Given the description of an element on the screen output the (x, y) to click on. 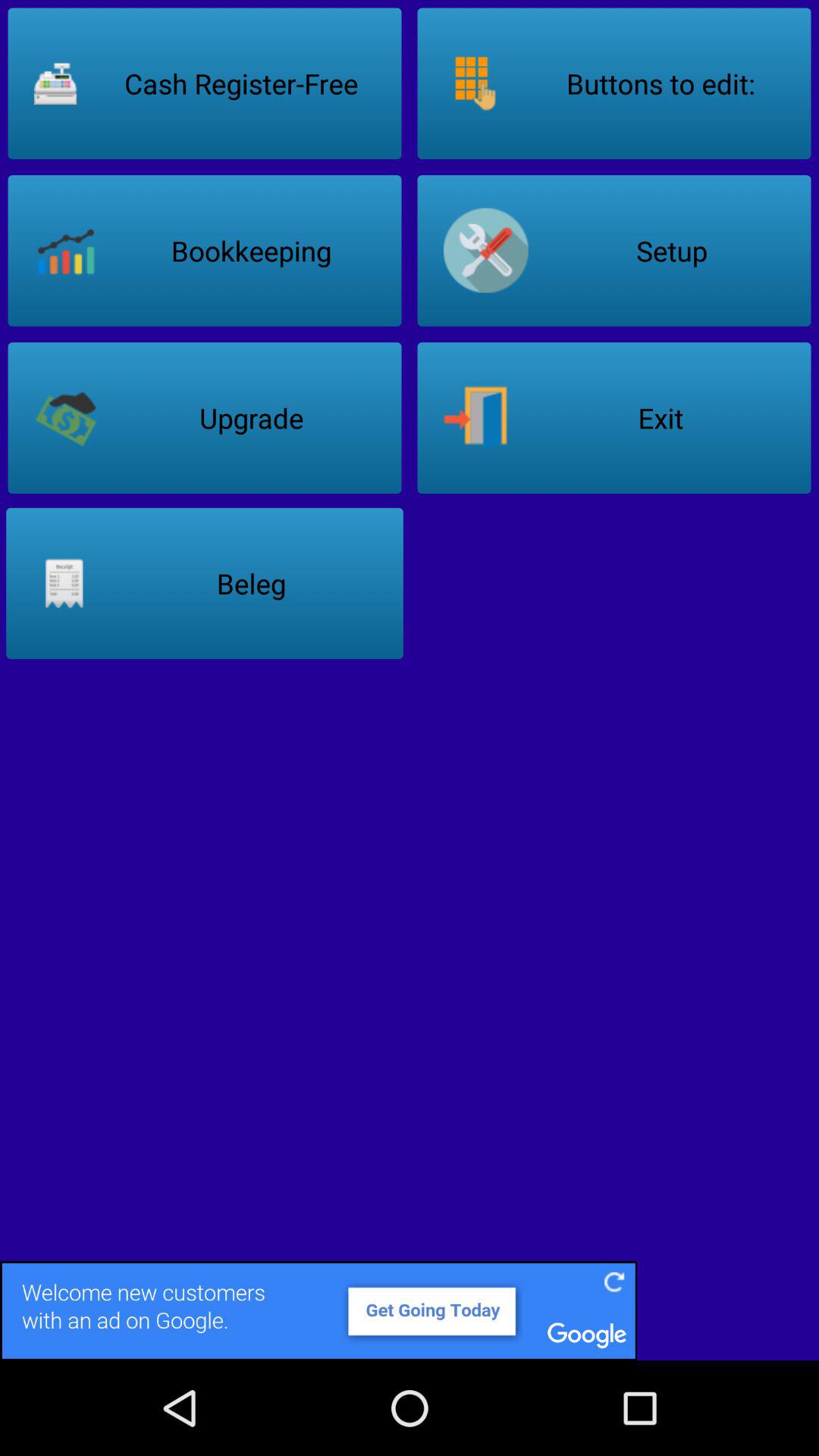
details about advertisement (409, 1310)
